Given the description of an element on the screen output the (x, y) to click on. 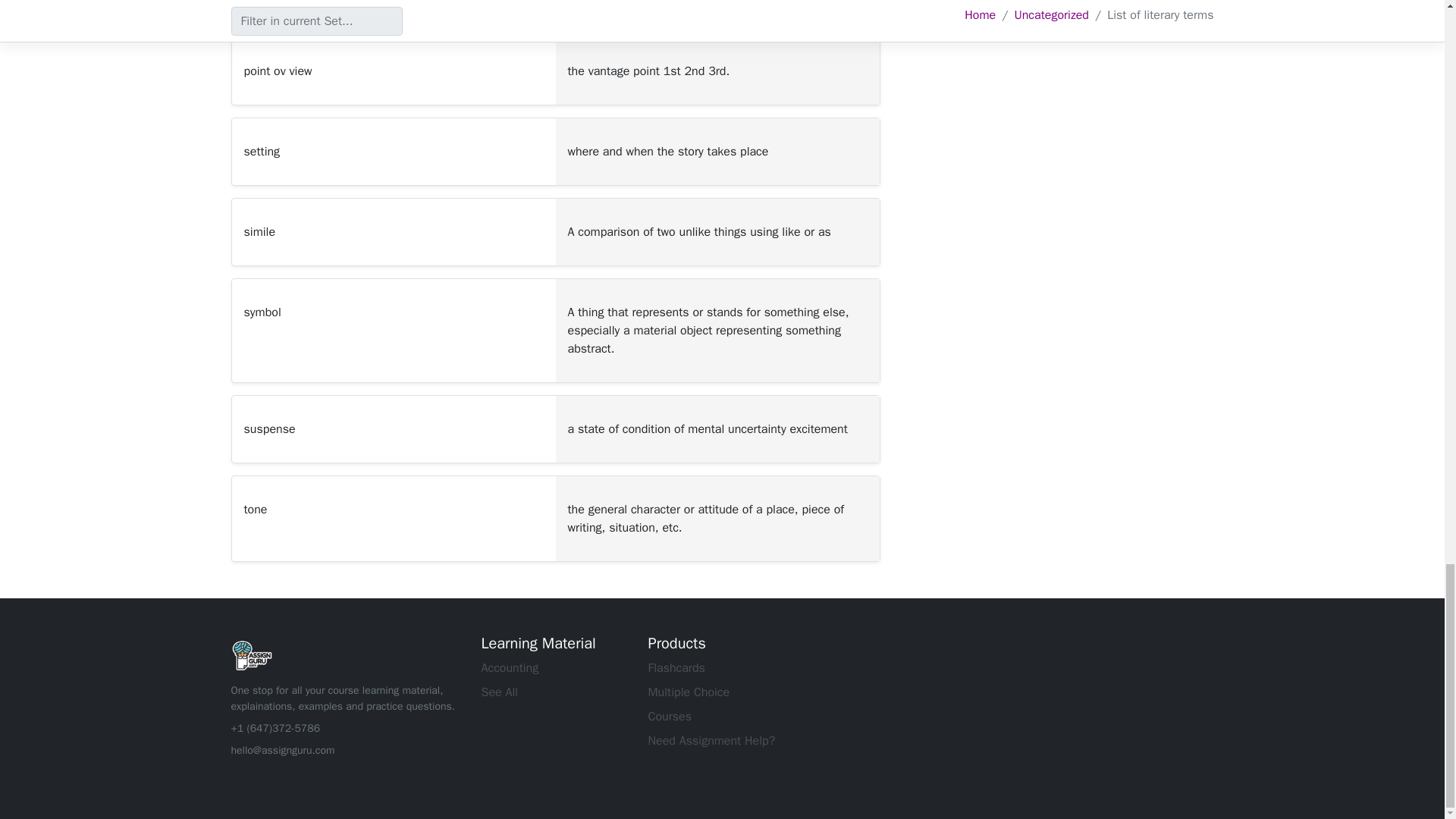
Need Assignment Help? (710, 740)
Multiple Choice (688, 692)
Flashcards (675, 667)
Courses (669, 716)
See All (499, 692)
Accounting (509, 667)
